Given the description of an element on the screen output the (x, y) to click on. 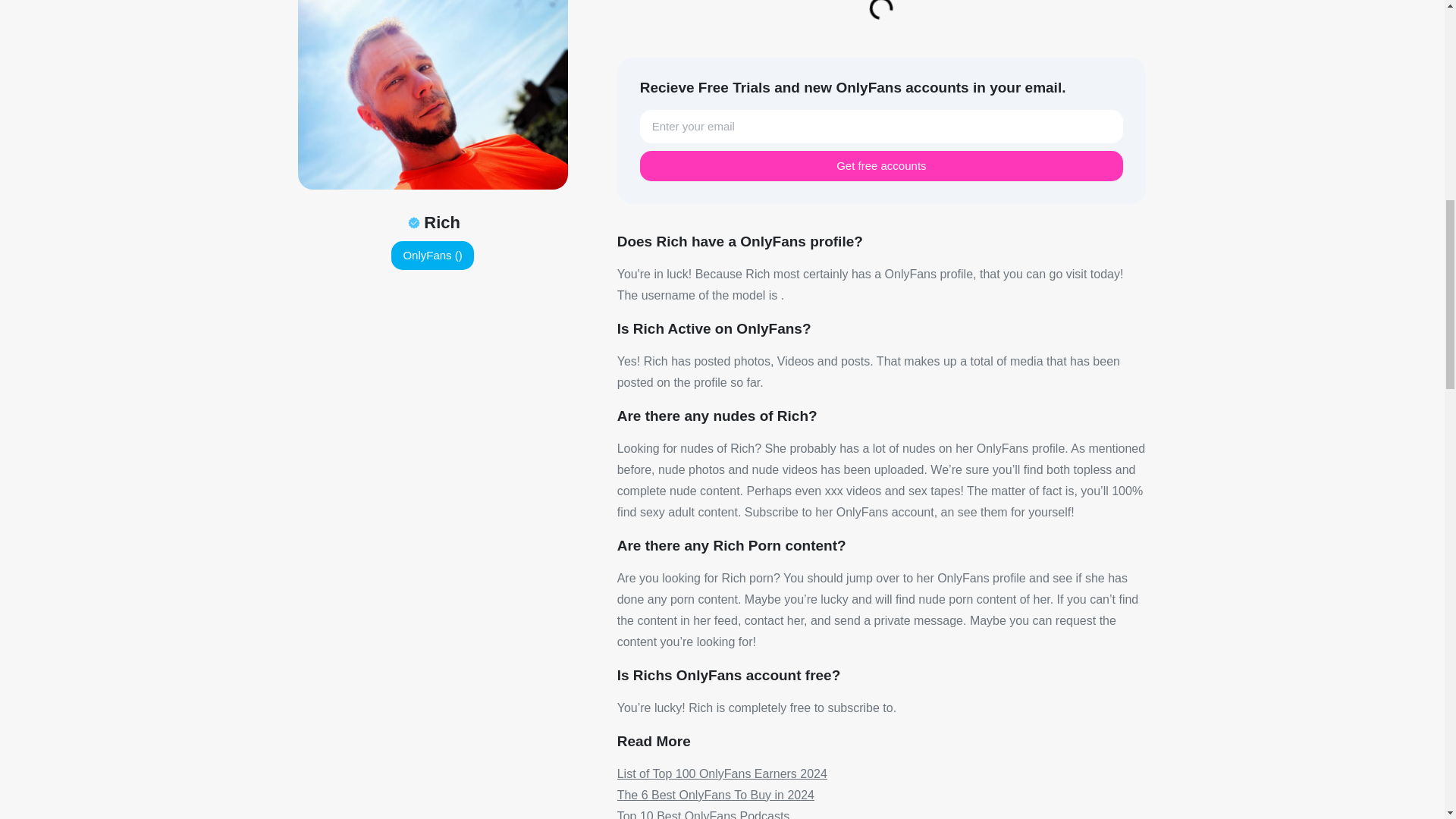
The 6 Best OnlyFans To Buy in 2024 (715, 794)
List of Top 100 OnlyFans Earners 2024 (722, 773)
Get free accounts (881, 165)
Top 10 Best OnlyFans Podcasts (703, 814)
